Given the description of an element on the screen output the (x, y) to click on. 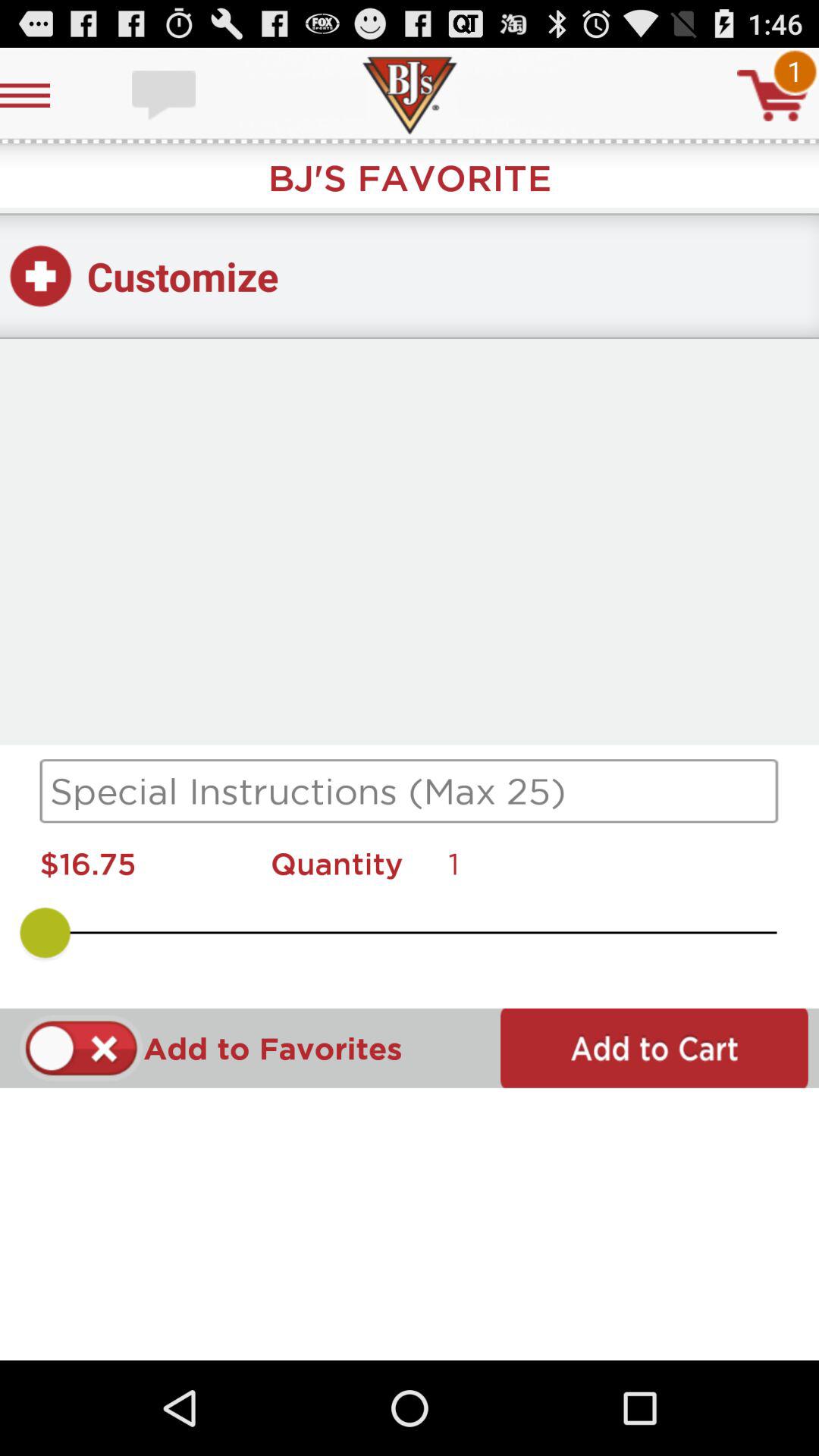
add item (654, 1048)
